Given the description of an element on the screen output the (x, y) to click on. 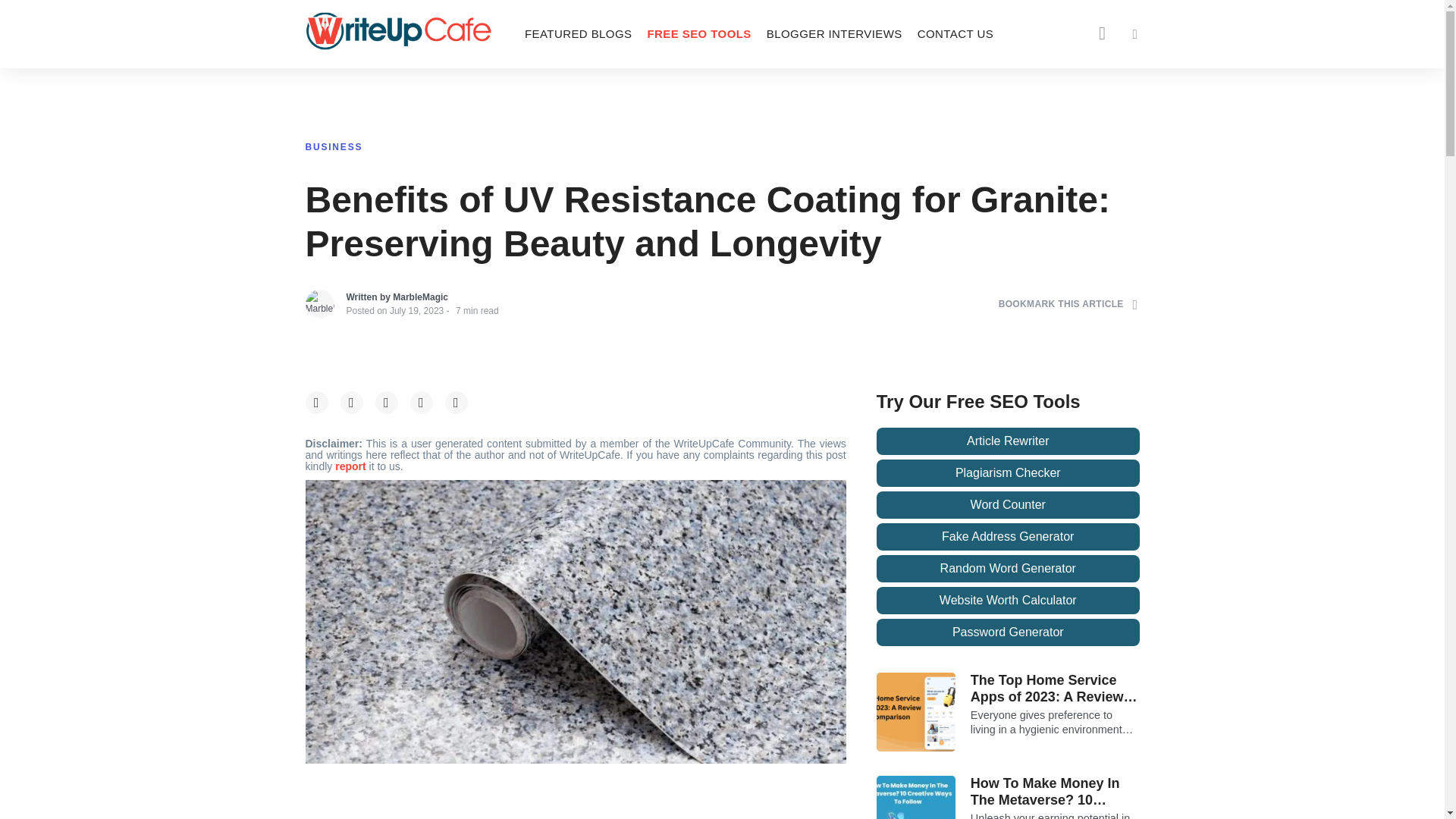
FEATURED BLOGS (577, 33)
Password Generator (1008, 632)
Website Worth Calculator (1008, 600)
Plagiarism Checker (1008, 472)
The Top Home Service Apps of 2023: A Review and Comparison (1055, 688)
FREE SEO TOOLS (698, 33)
MarbleMagic (420, 296)
BOOKMARK THIS ARTICLE (1068, 303)
Fake Address Generator (1008, 536)
